Given the description of an element on the screen output the (x, y) to click on. 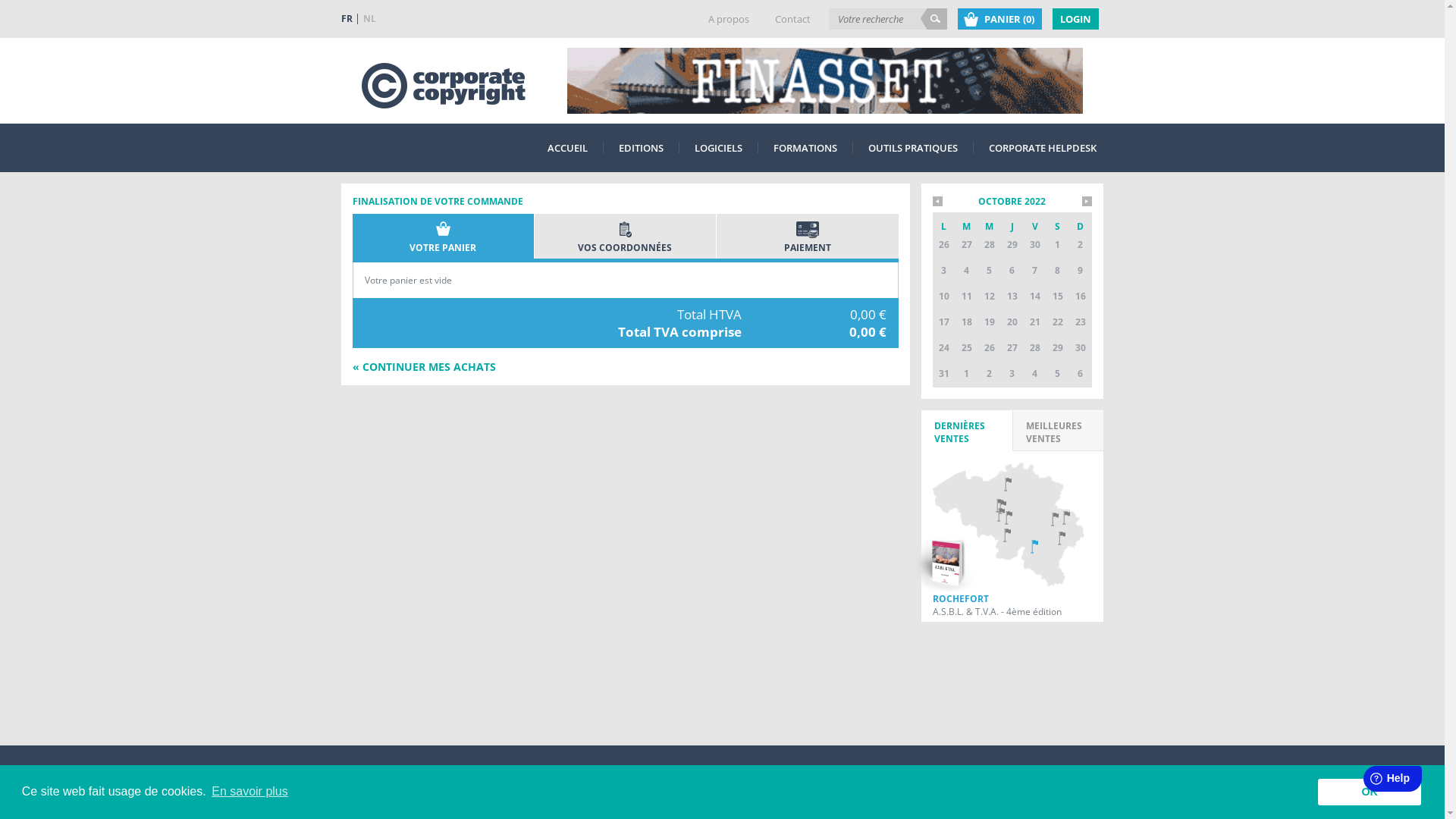
Contact Element type: text (792, 18)
LOGICIELS Element type: text (718, 147)
CORPORATE HELPDESK Element type: text (1042, 147)
Recherche Element type: text (933, 18)
LIENS Element type: text (538, 780)
FORMATIONS Element type: text (804, 147)
NL Element type: text (369, 18)
A propos Element type: text (728, 18)
En savoir plus Element type: text (249, 791)
EDITIONS Element type: text (641, 147)
*mois_precedent Element type: text (937, 201)
MEILLEURES VENTES Element type: text (1058, 430)
ACCUEIL Element type: text (567, 147)
Return top Element type: text (1090, 780)
PANIER (0) Element type: text (999, 18)
LOGIN Element type: text (1075, 18)
OUTILS PRATIQUES Element type: text (911, 147)
*mois_suivant Element type: text (1086, 201)
NOTRE ENTREPRISE Element type: text (382, 780)
FR Element type: text (349, 18)
OK Element type: text (1369, 791)
